Given the description of an element on the screen output the (x, y) to click on. 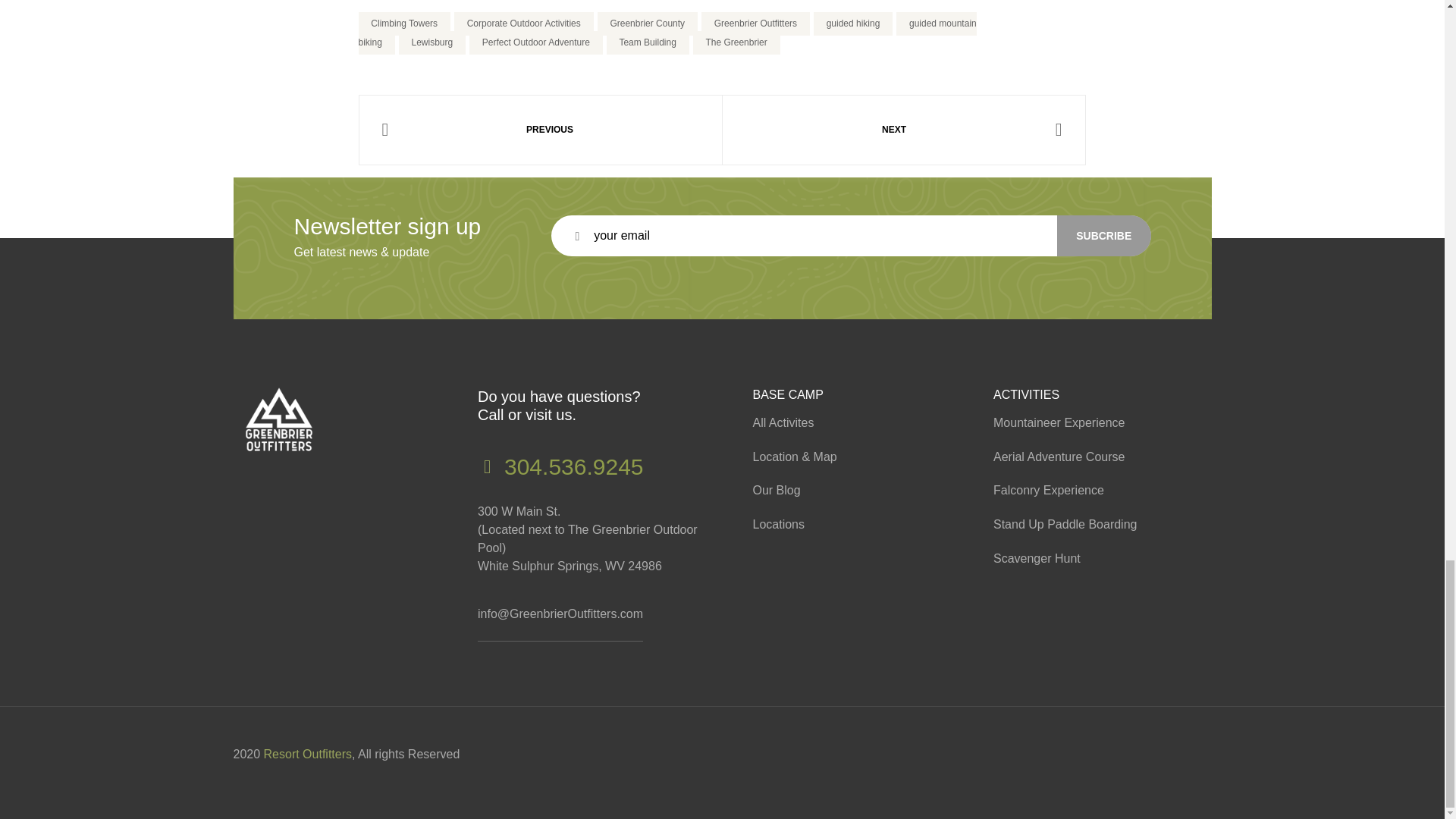
Greenbrier County (646, 24)
Corporate Outdoor Activities (524, 24)
Climbing Towers (403, 24)
Lewisburg (431, 42)
guided mountain biking (666, 33)
Team Building (647, 42)
Perfect Outdoor Adventure (535, 42)
Greenbrier Outfitters (755, 24)
guided hiking (852, 24)
